Given the description of an element on the screen output the (x, y) to click on. 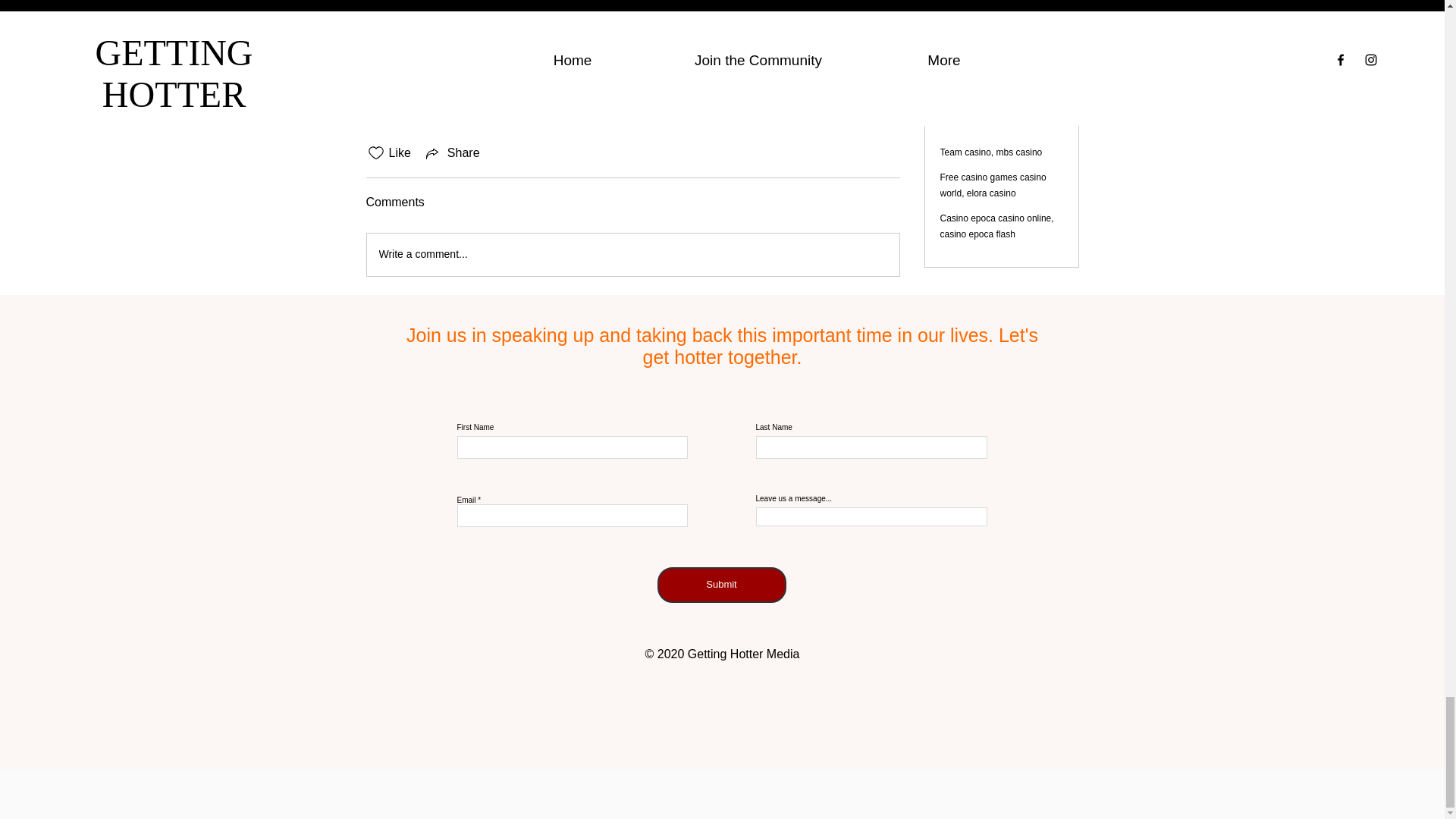
Write a comment... (632, 254)
Share (451, 153)
Submit (721, 584)
